Given the description of an element on the screen output the (x, y) to click on. 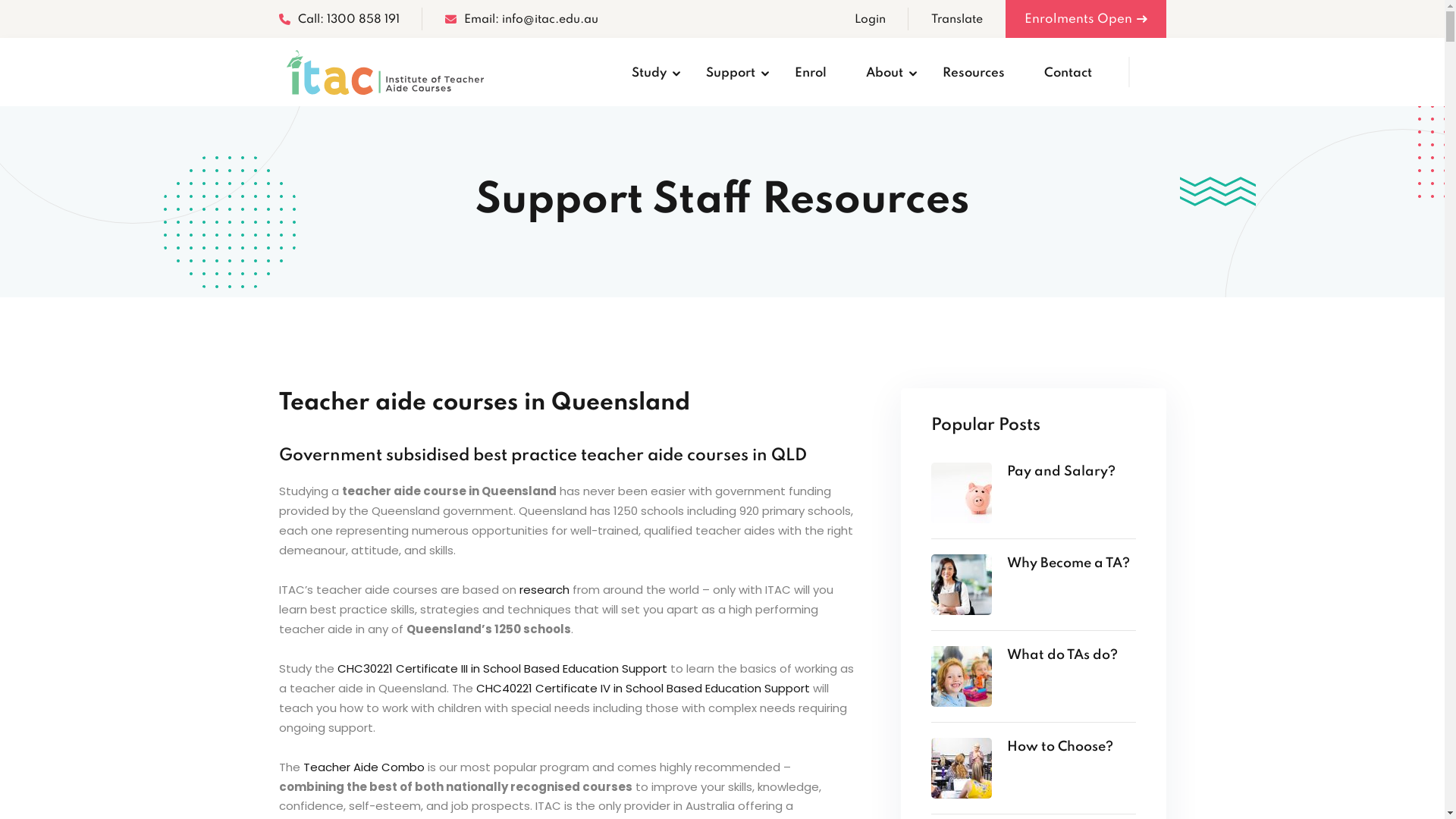
Login Element type: text (868, 19)
About Element type: text (884, 71)
CHC40221 Certificate IV in School Based Education Support Element type: text (642, 688)
Translate Element type: text (956, 19)
Call: 1300 858 191 Element type: text (339, 19)
Enrolments Open Element type: text (1085, 18)
research Element type: text (543, 589)
Enrol Element type: text (810, 71)
Support Element type: text (729, 71)
Why Become a TA? Element type: text (1071, 564)
What do TAs do? Element type: text (1071, 655)
Pay and Salary? Element type: text (1071, 472)
Email: info@itac.edu.au Element type: text (520, 19)
Teacher Aide Combo Element type: text (363, 767)
CHC30221 Certificate III in School Based Education Support Element type: text (501, 668)
Resources Element type: text (972, 71)
Contact Element type: text (1066, 71)
Study Element type: text (648, 71)
How to Choose? Element type: text (1071, 747)
